Given the description of an element on the screen output the (x, y) to click on. 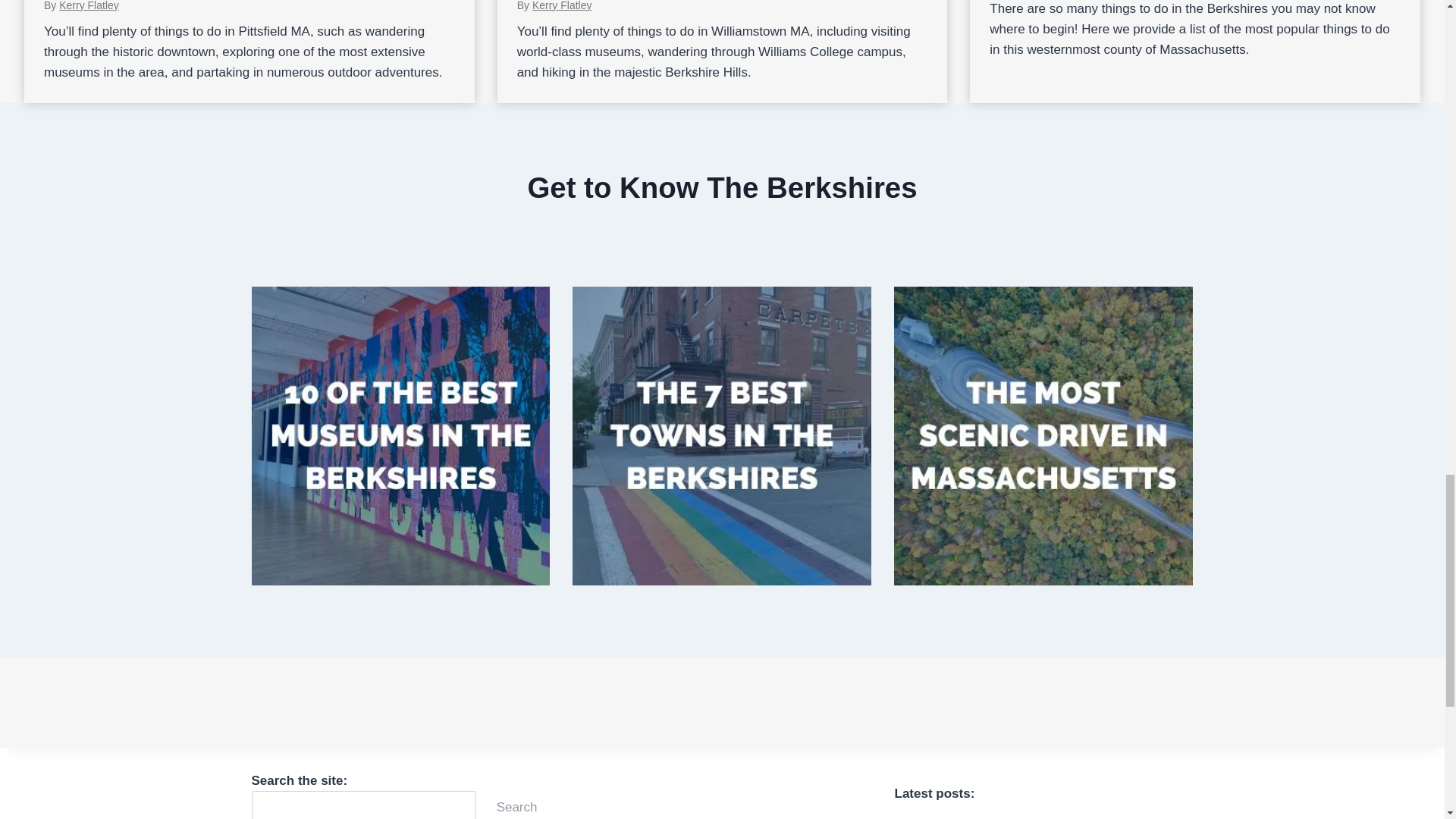
Kerry Flatley (562, 5)
Search (516, 805)
Kerry Flatley (89, 5)
